Given the description of an element on the screen output the (x, y) to click on. 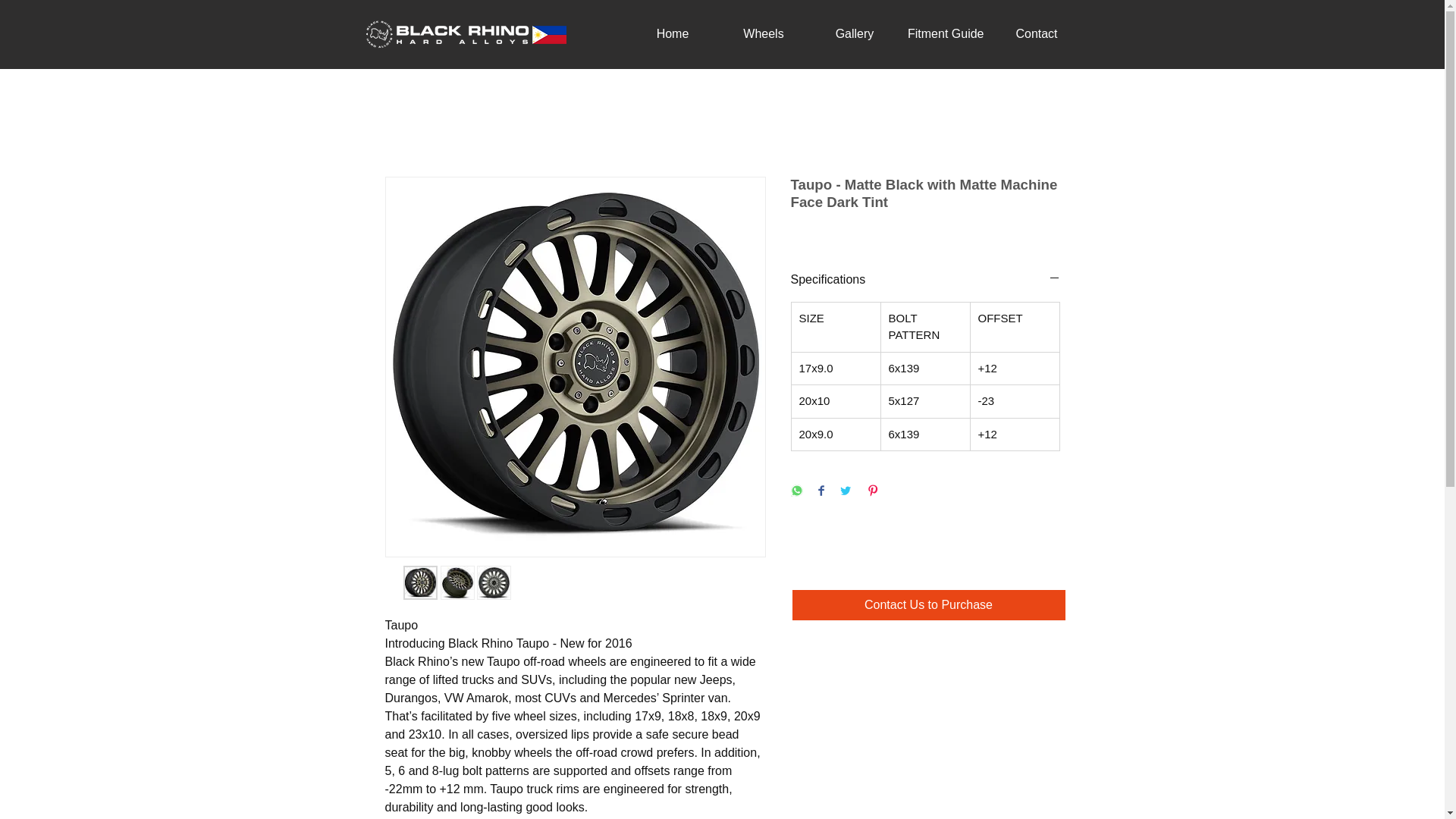
Wheels (763, 34)
Specifications (924, 279)
Home (672, 34)
Gallery (854, 34)
Contact Us to Purchase (928, 604)
Contact (1036, 34)
Fitment Guide (945, 34)
